Given the description of an element on the screen output the (x, y) to click on. 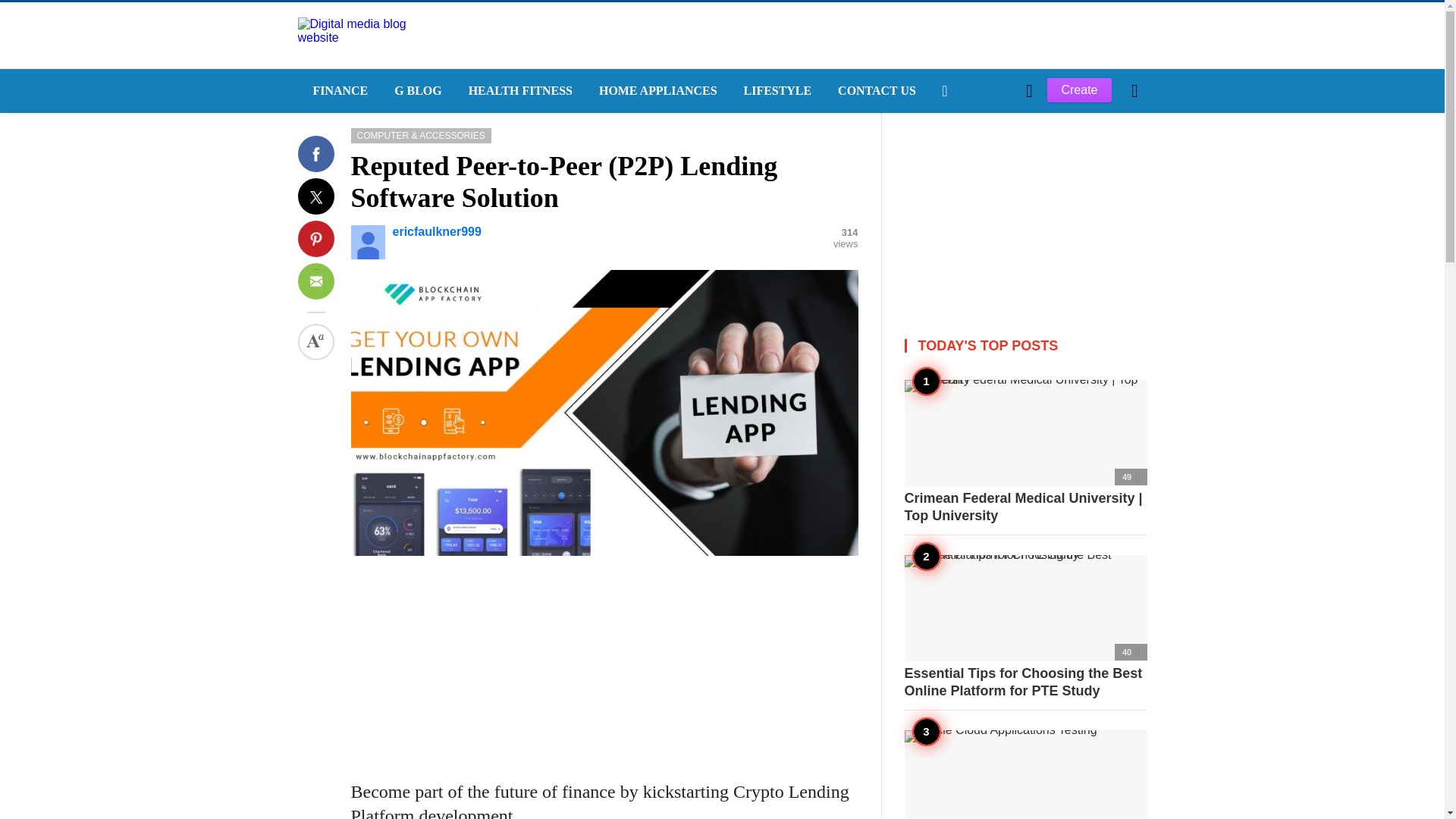
Advertisement (1025, 207)
Log in (962, 347)
Advertisement (603, 662)
Oracle Cloud Applications Testing (1025, 774)
FINANCE (337, 90)
HOME APPLIANCES (656, 90)
LIFESTYLE (776, 90)
sign up (964, 347)
HEALTH FITNESS (517, 90)
